Given the description of an element on the screen output the (x, y) to click on. 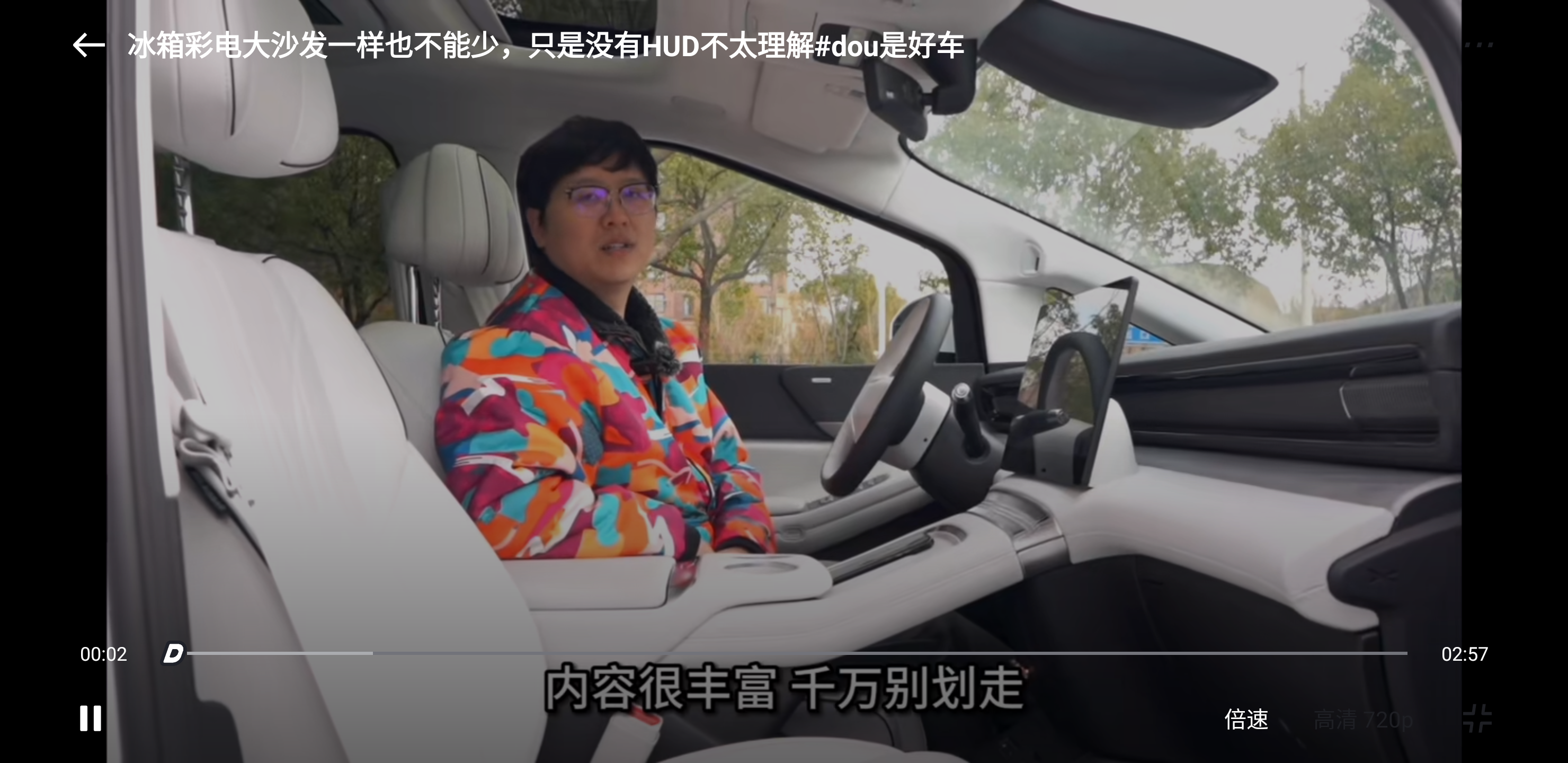
 (89, 44)
 (1478, 44)
 (90, 718)
 (1476, 718)
倍速 (1246, 718)
高清 720p (1363, 718)
